Given the description of an element on the screen output the (x, y) to click on. 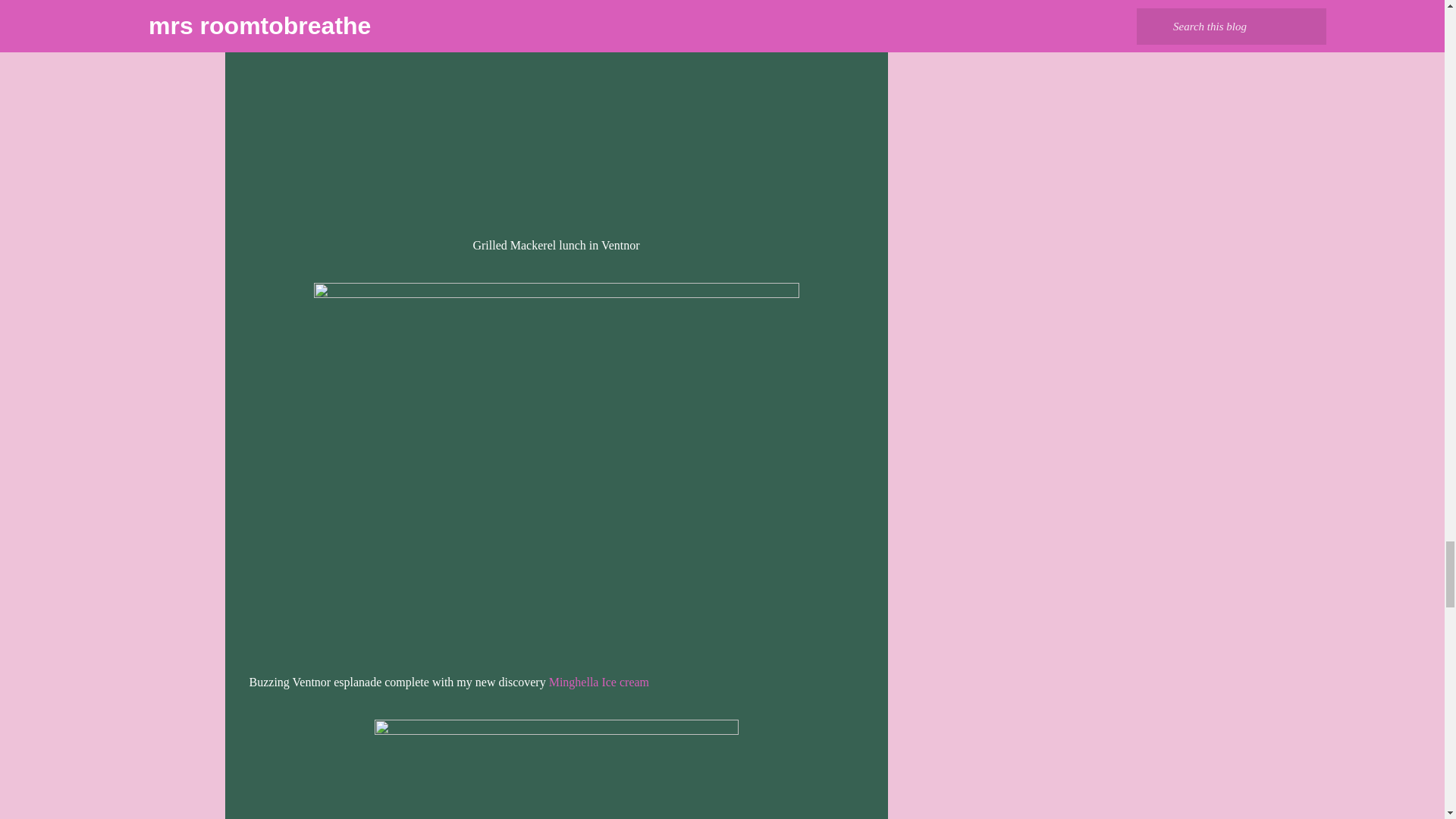
Minghella Ice cream (598, 681)
